Given the description of an element on the screen output the (x, y) to click on. 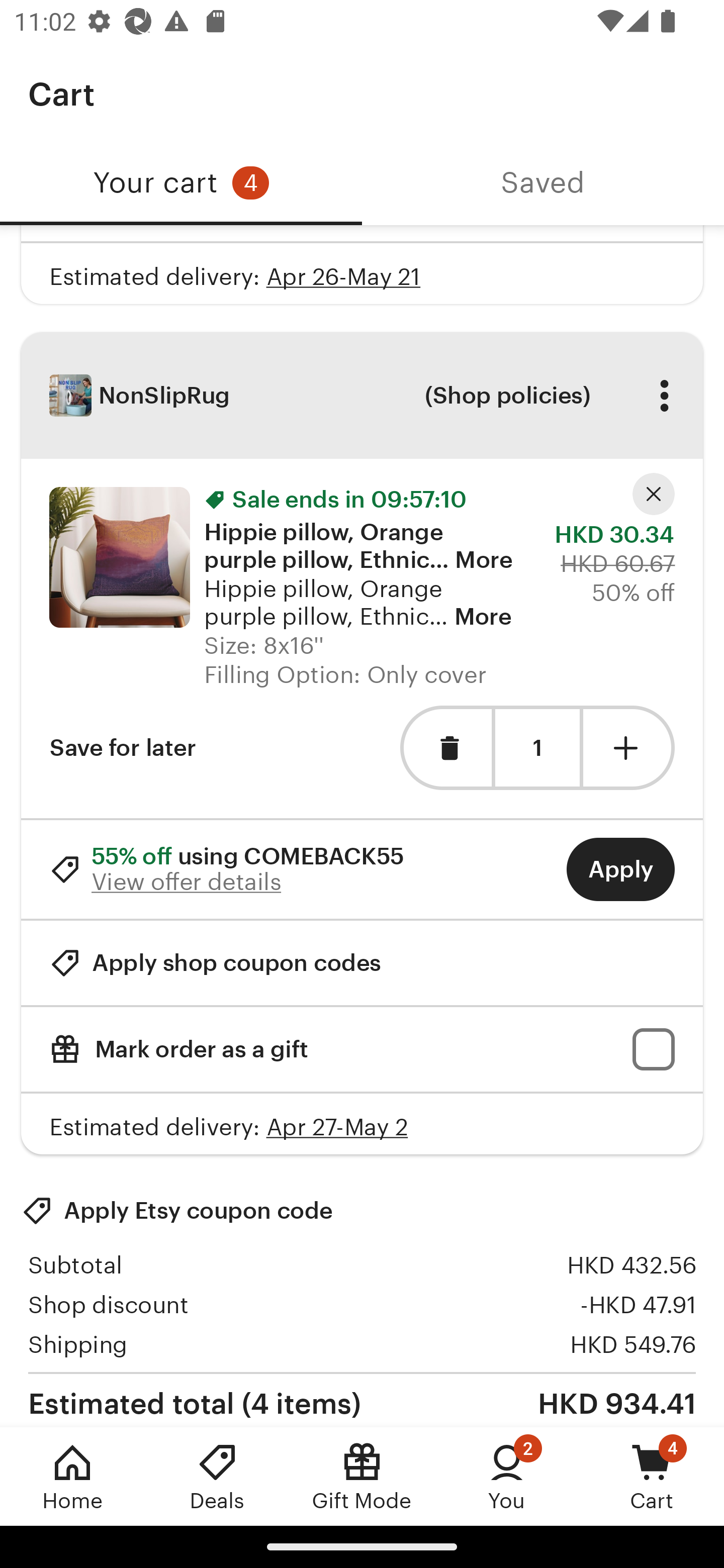
Saved, tab 2 of 2 Saved (543, 183)
NonSlipRug (Shop policies) More options (361, 395)
(Shop policies) (507, 394)
More options (663, 394)
Save for later (122, 747)
Remove item from cart (445, 747)
Add one unit to cart (628, 747)
1 (537, 747)
55% off using COMEBACK55 View offer details Apply (361, 869)
Apply (620, 869)
Apply shop coupon codes (215, 962)
Mark order as a gift (361, 1048)
Apply Etsy coupon code (177, 1210)
Home (72, 1475)
Deals (216, 1475)
Gift Mode (361, 1475)
You, 2 new notifications You (506, 1475)
